Given the description of an element on the screen output the (x, y) to click on. 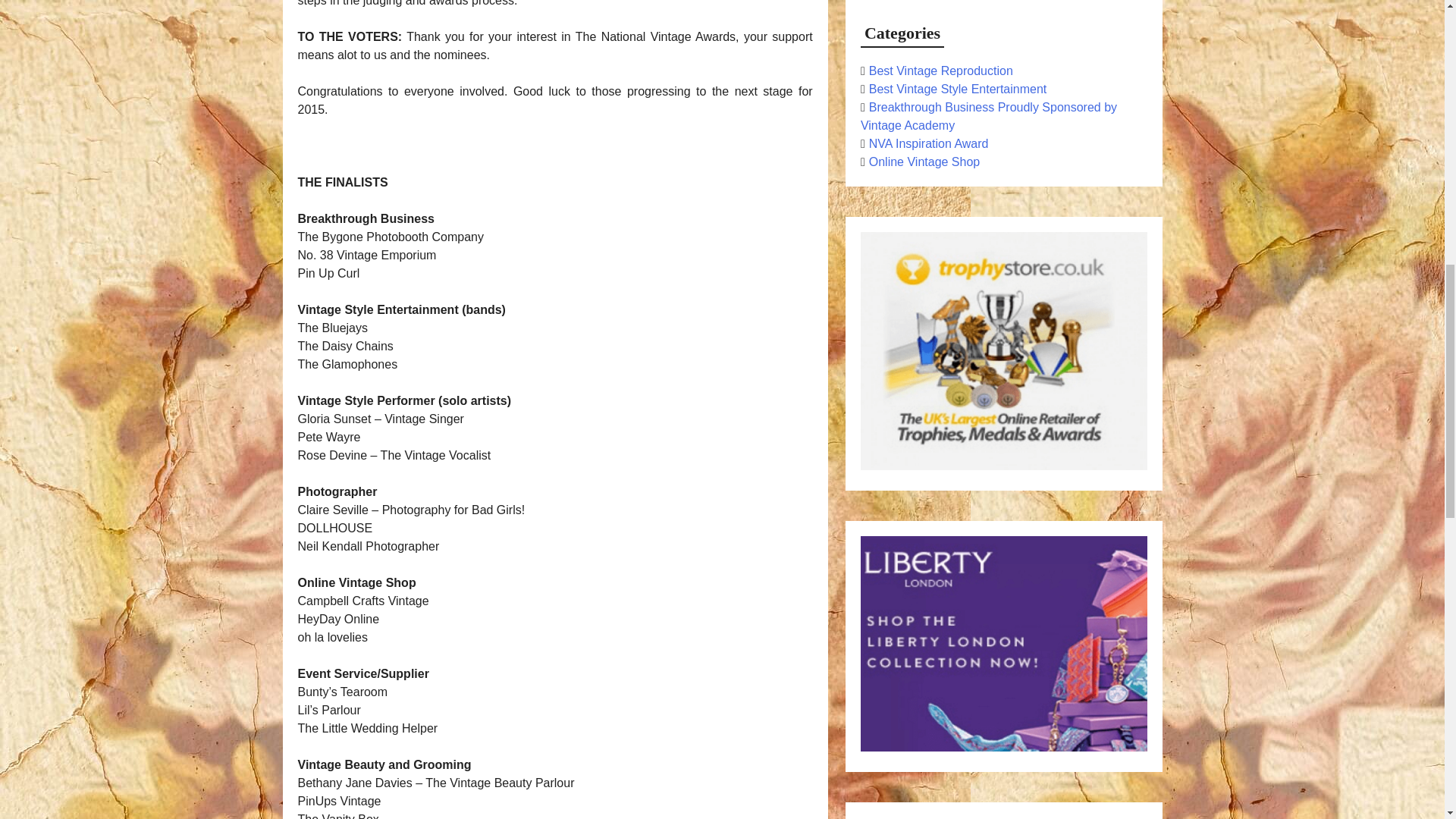
Best Vintage Reproduction (941, 70)
NVA Inspiration Award (928, 143)
Breakthrough Business Proudly Sponsored by Vintage Academy (988, 115)
Online Vintage Shop (924, 161)
Best Vintage Style Entertainment (957, 88)
